Given the description of an element on the screen output the (x, y) to click on. 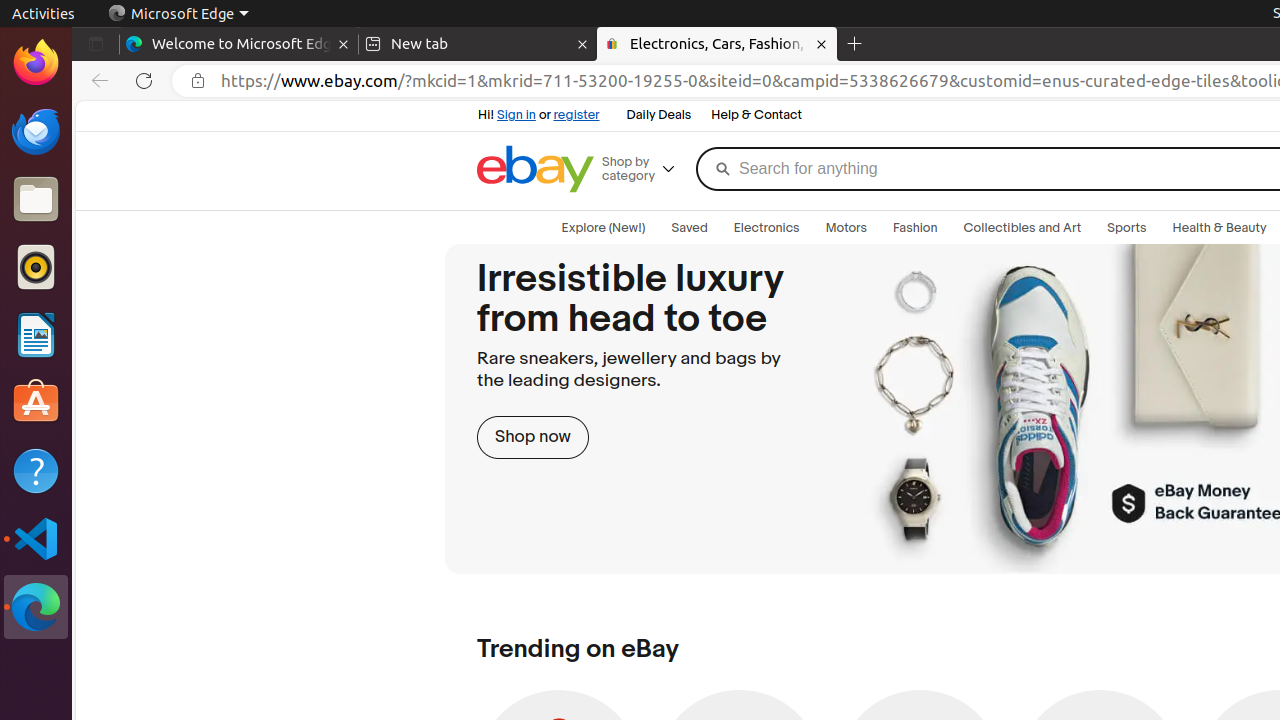
eBay Home Element type: link (535, 169)
LibreOffice Writer Element type: push-button (36, 334)
Files Element type: push-button (36, 199)
Collectibles and Art Element type: link (1022, 228)
Back Element type: push-button (96, 81)
